Given the description of an element on the screen output the (x, y) to click on. 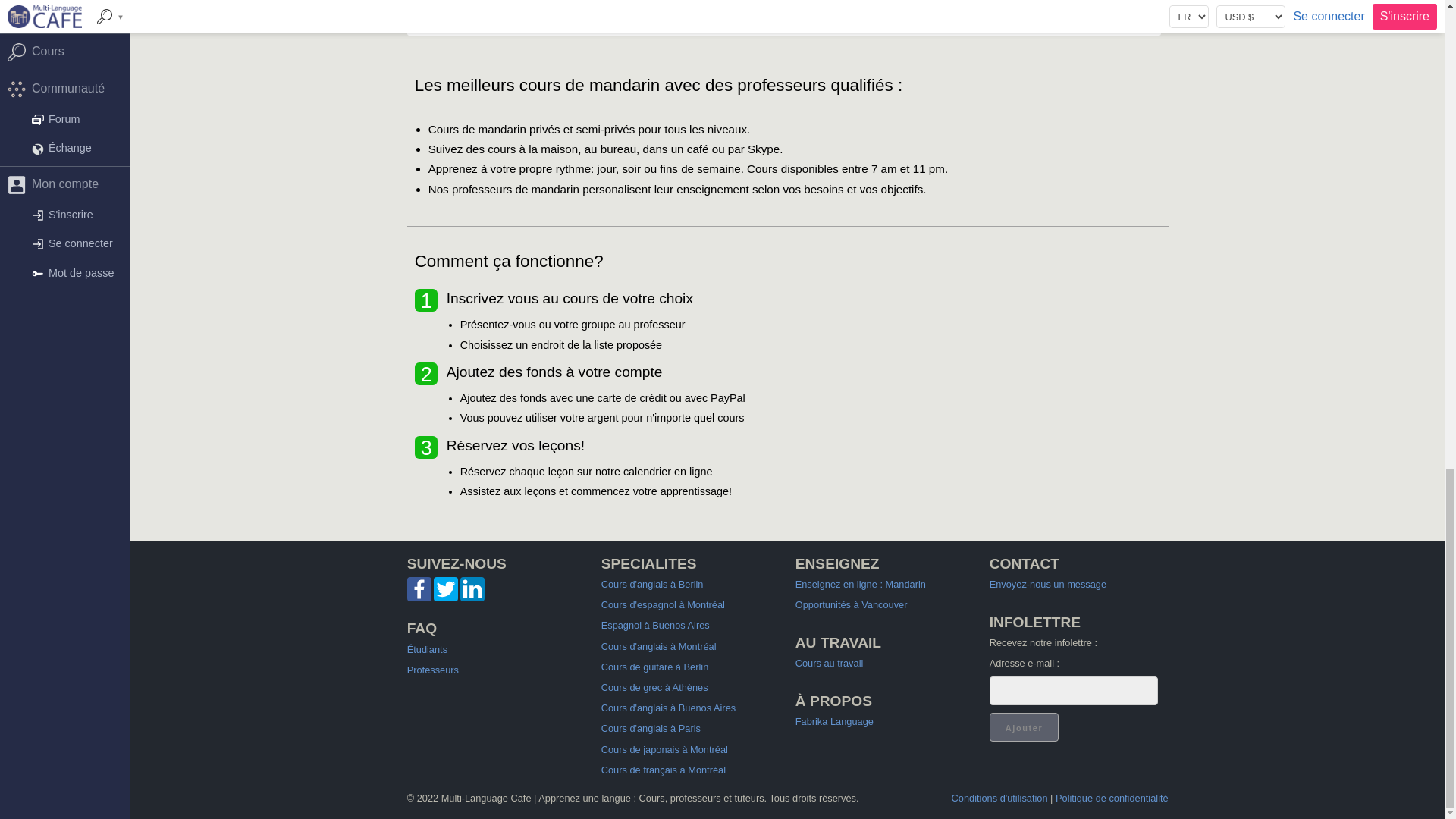
Suivez-nous sur Facebook (418, 589)
Suivez-nous sur Twitter (445, 597)
Suivez-nous sur Facebook (418, 597)
Suivez-nous sur Twitter (445, 589)
Ajouter (1024, 727)
Suivez-nous sur LinkedIn (472, 597)
Suivez-nous sur LinkedIn (472, 589)
